Given the description of an element on the screen output the (x, y) to click on. 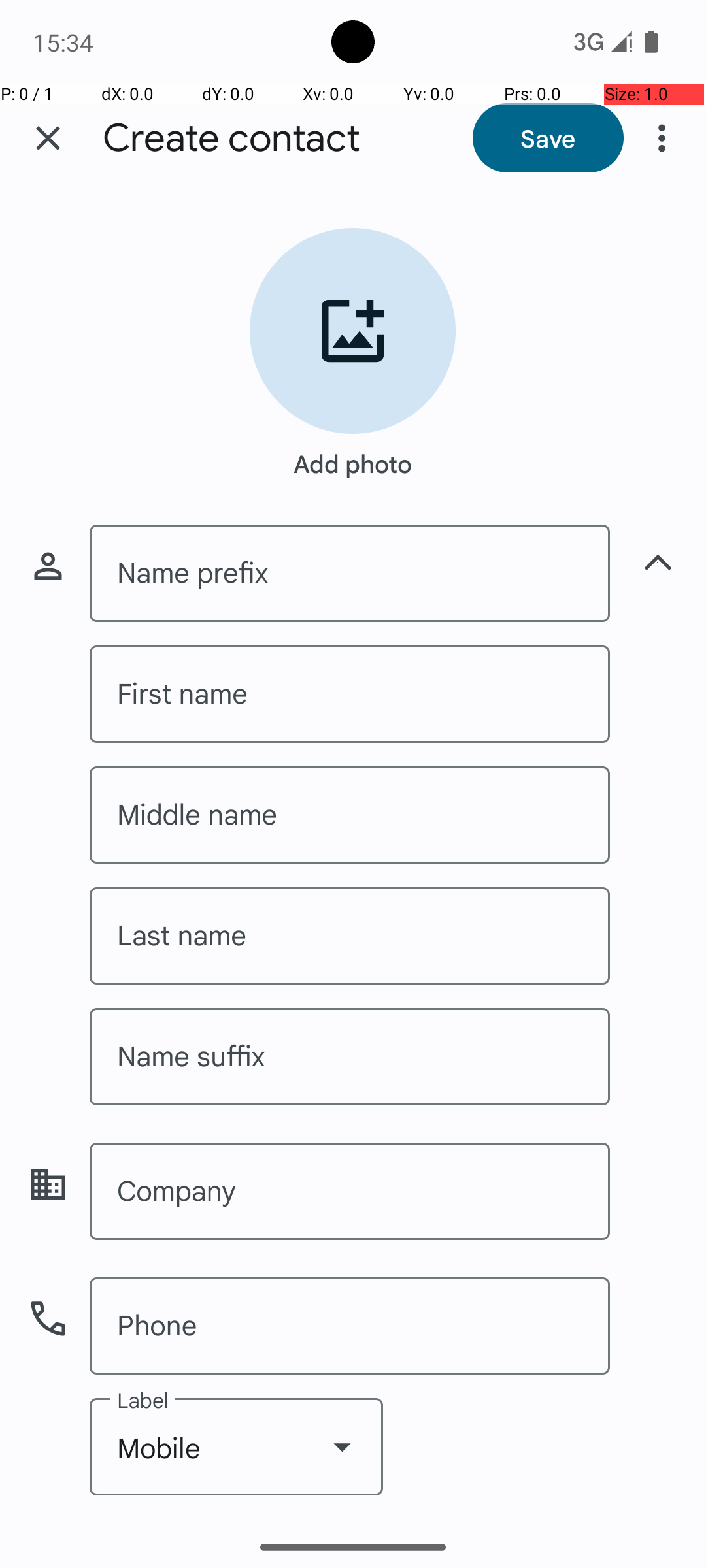
Create contact Element type: android.widget.TextView (231, 138)
Save Element type: android.widget.Button (547, 137)
Name prefix Element type: android.widget.EditText (349, 572)
First name Element type: android.widget.EditText (349, 693)
Middle name Element type: android.widget.EditText (349, 814)
Last name Element type: android.widget.EditText (349, 935)
Name suffix Element type: android.widget.EditText (349, 1056)
Company Element type: android.widget.EditText (349, 1191)
Mobile Element type: android.widget.Spinner (236, 1446)
Show dropdown menu Element type: android.widget.ImageButton (341, 1446)
Add contact photo Element type: android.widget.ImageView (352, 330)
Add photo Element type: android.widget.TextView (352, 456)
Collapse name fields Element type: android.widget.ImageView (657, 562)
